Given the description of an element on the screen output the (x, y) to click on. 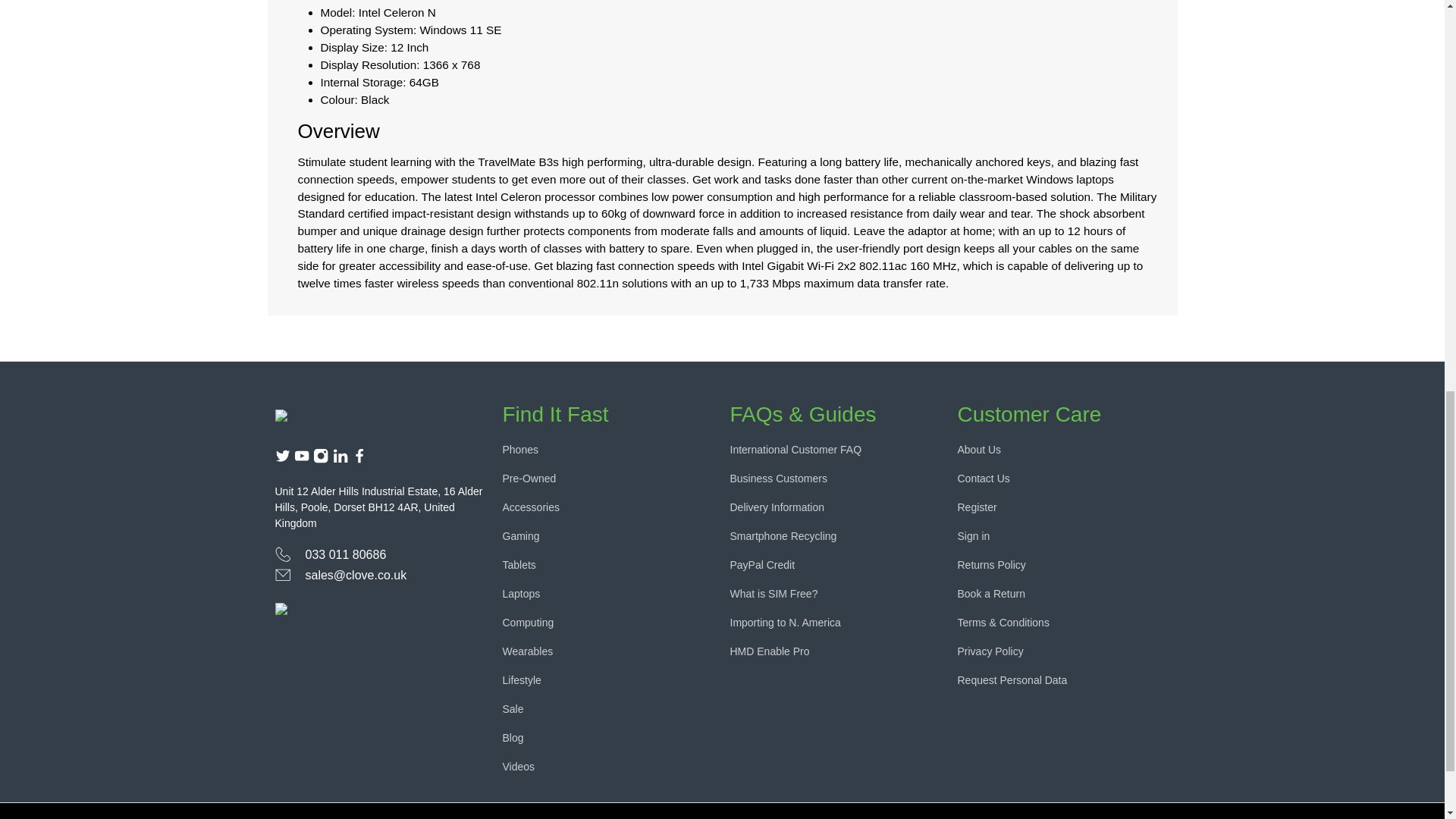
Clove Technology (338, 412)
Clove Technology on Instagram (321, 460)
Clove Technology on Twitter (282, 460)
Clove Technology on Facebook (359, 460)
Clove Technology on YouTube (301, 460)
Clove Technology on LinkedIn (340, 460)
